Given the description of an element on the screen output the (x, y) to click on. 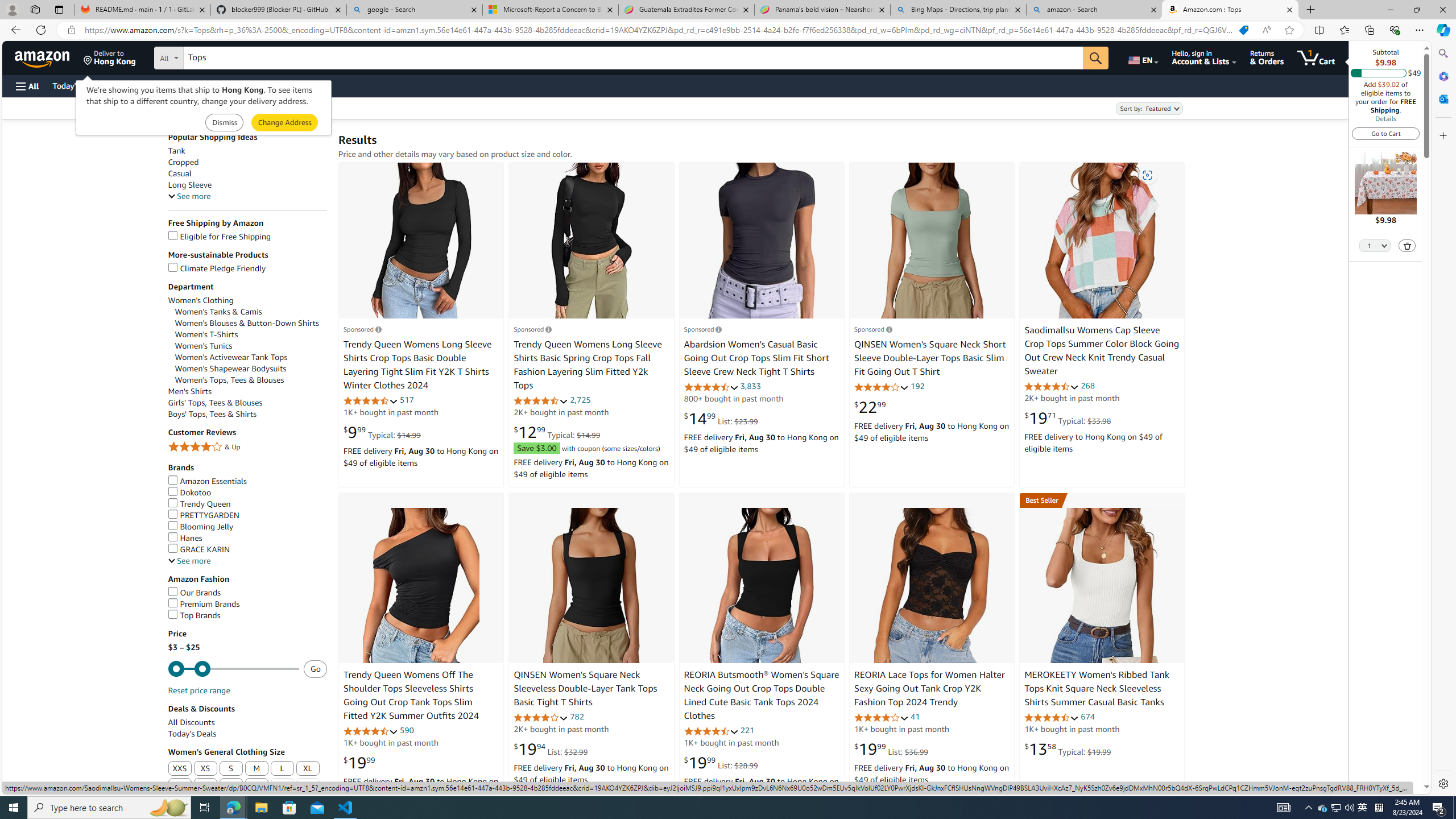
Women's Tunics (203, 345)
Women's Shapewear Bodysuits (250, 368)
Long Sleeve (189, 184)
Blooming Jelly (247, 526)
Women's Clothing (247, 300)
4.0 out of 5 stars (880, 717)
XS (204, 768)
S (231, 768)
$9.99 Typical: $14.99 (381, 431)
$14.99 List: $23.99 (721, 418)
3XL (205, 786)
Women's Tanks & Camis (250, 311)
41 (915, 716)
